Given the description of an element on the screen output the (x, y) to click on. 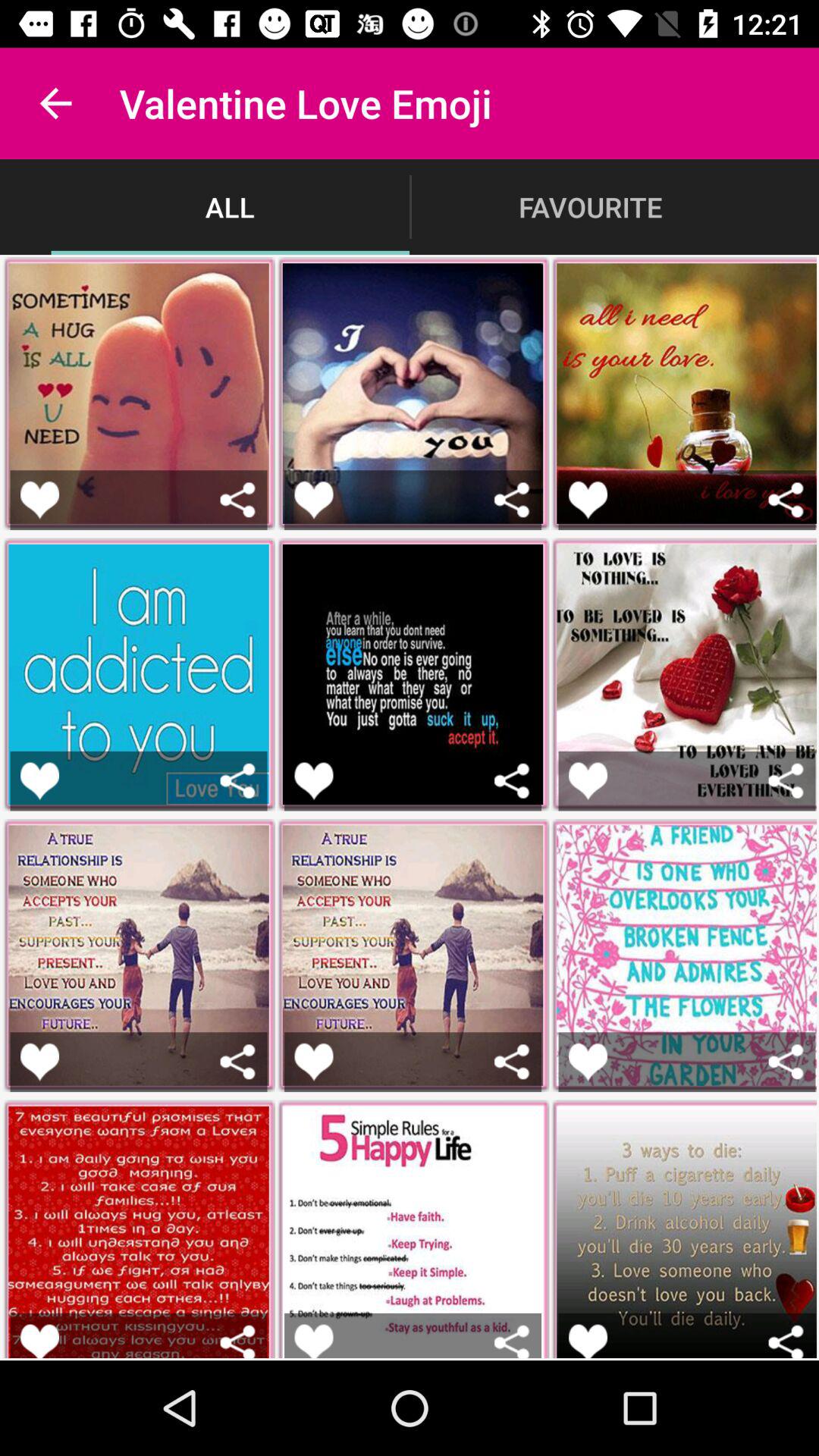
share button (785, 1061)
